Given the description of an element on the screen output the (x, y) to click on. 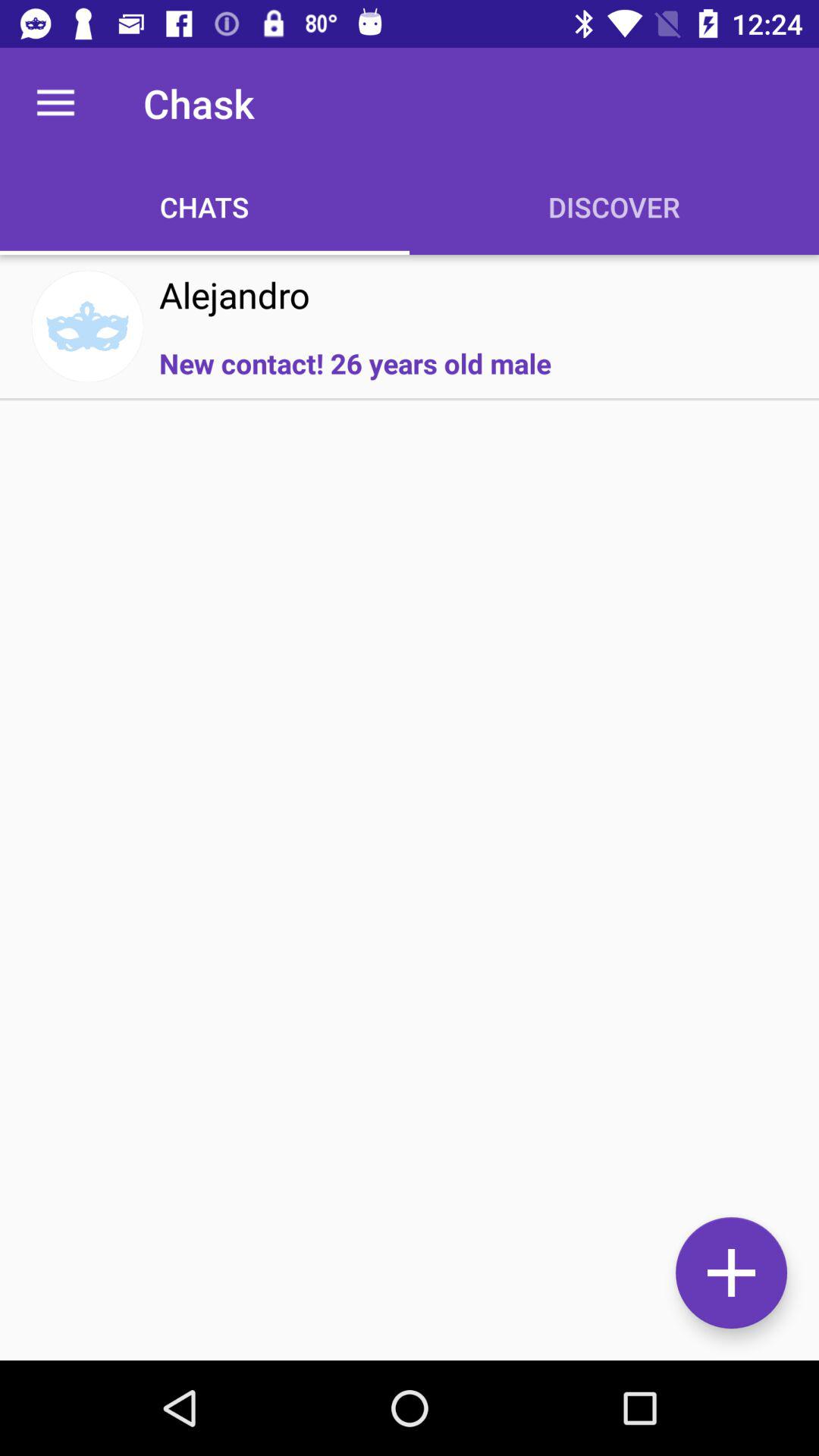
turn on the icon below chats icon (234, 294)
